Given the description of an element on the screen output the (x, y) to click on. 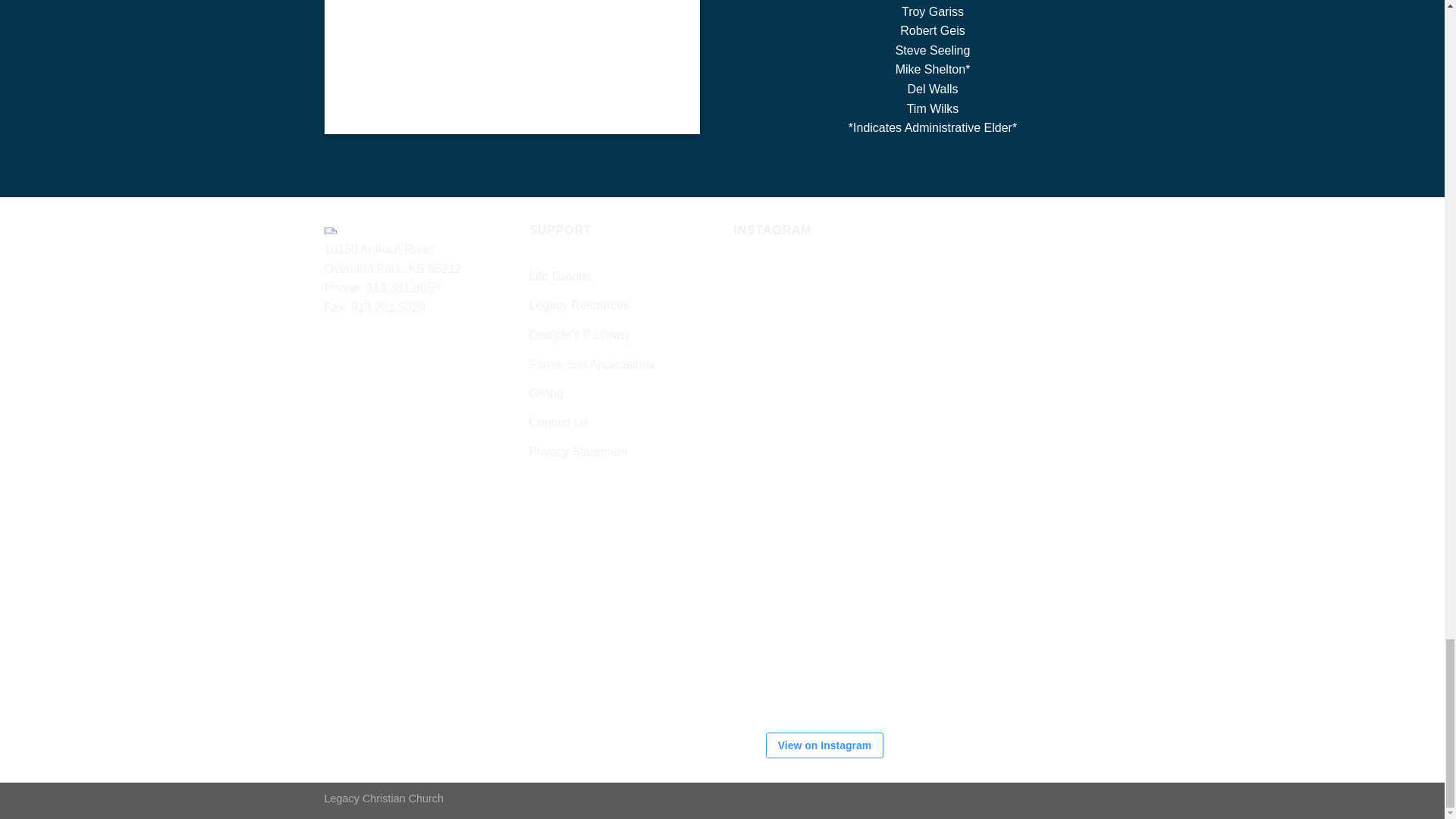
Life Groups (560, 276)
Forms and Applications (592, 364)
Legacy Resources (579, 305)
